Given the description of an element on the screen output the (x, y) to click on. 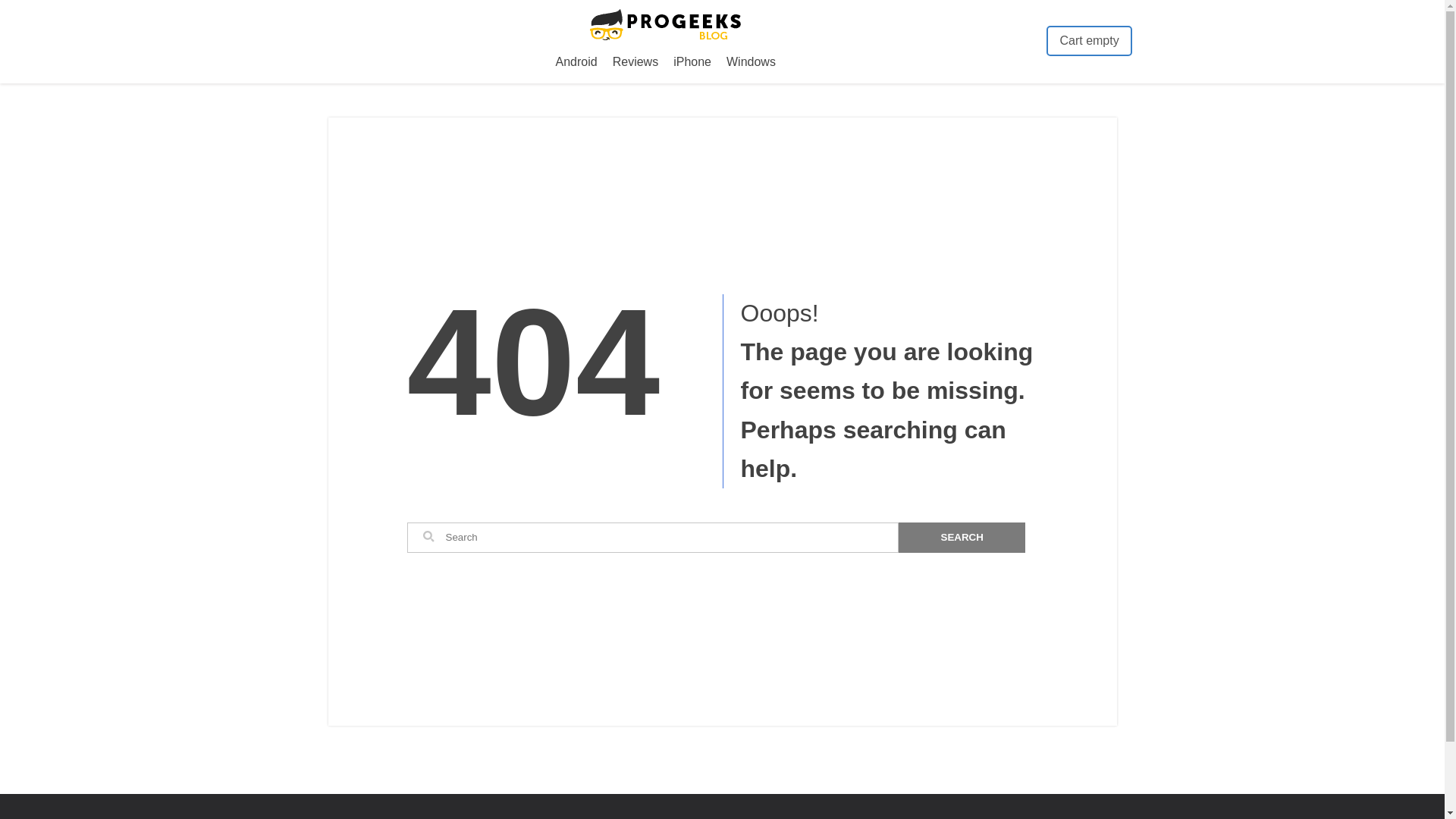
Cart empty (1088, 40)
iPhone (692, 61)
Android (576, 61)
Reviews (635, 61)
SEARCH (961, 537)
Windows (751, 61)
